Given the description of an element on the screen output the (x, y) to click on. 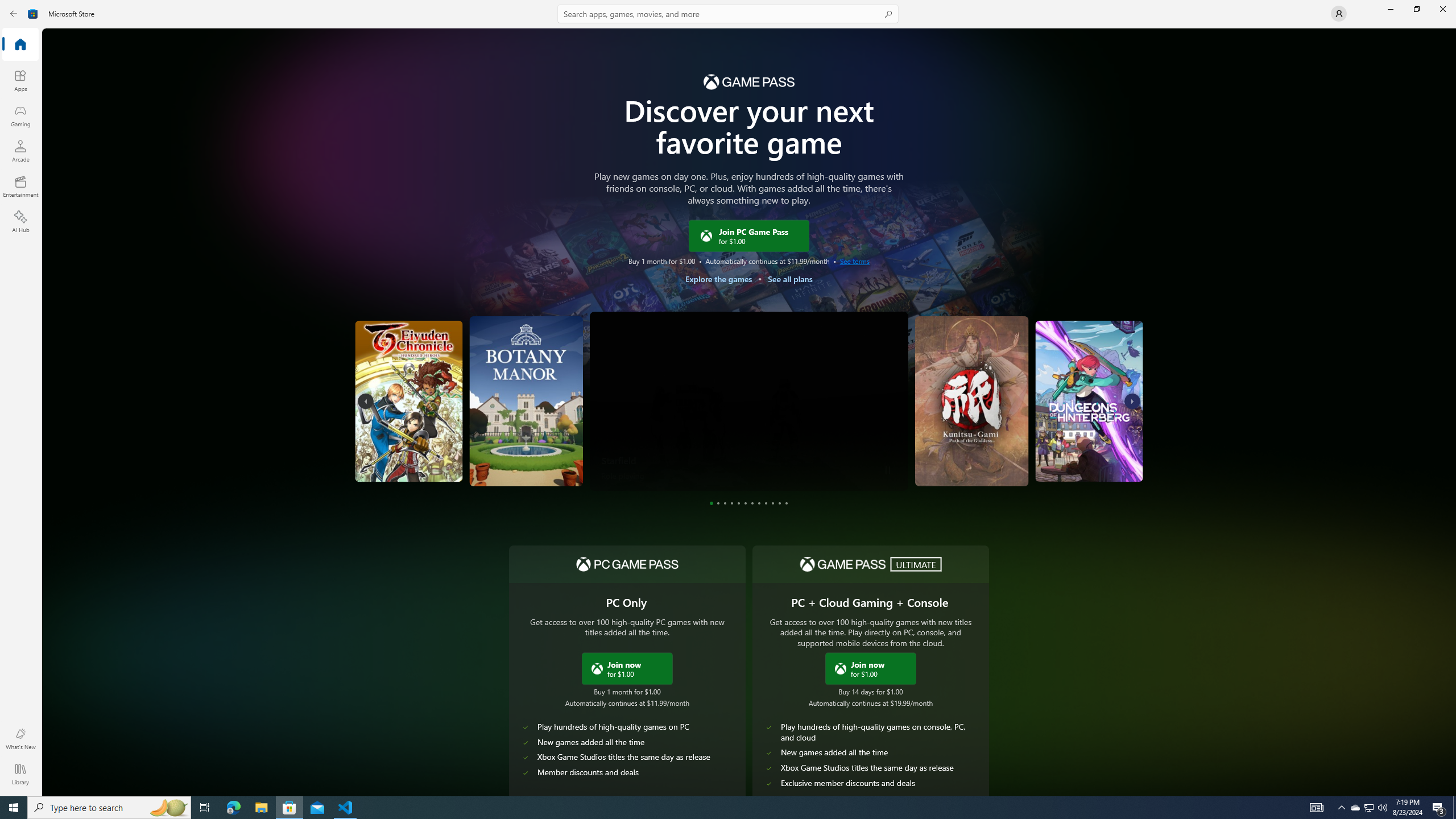
Eiyuden Chronicle: Hundred Heroes (381, 453)
Back (13, 13)
Page 8 (758, 503)
Eiyuden Chronicle: Hundred Heroes (453, 401)
Page 10 (773, 503)
Pager (748, 503)
Starfield (618, 460)
Class: Image (839, 668)
Join Xbox Game Pass Ultimate now for $1.00 (870, 667)
Page 5 (738, 503)
Page 1 (710, 503)
Page 3 (725, 503)
AutomationID: GamePosterBackground (748, 286)
Flintlock: The Siege of Dawn (1105, 401)
Page 6 (745, 503)
